Given the description of an element on the screen output the (x, y) to click on. 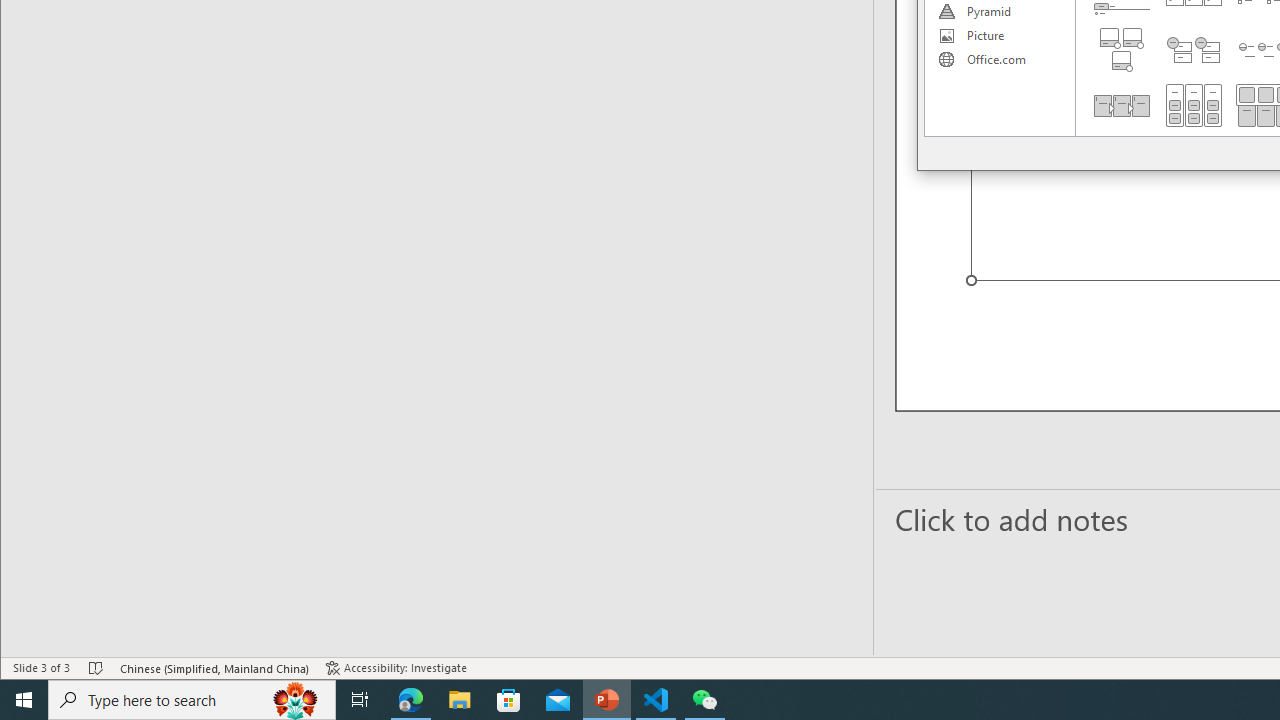
Stacked List (1194, 49)
Grouped List (1194, 105)
Picture (999, 35)
Detailed Process (1121, 105)
Microsoft Edge - 1 running window (411, 699)
WeChat - 1 running window (704, 699)
